Given the description of an element on the screen output the (x, y) to click on. 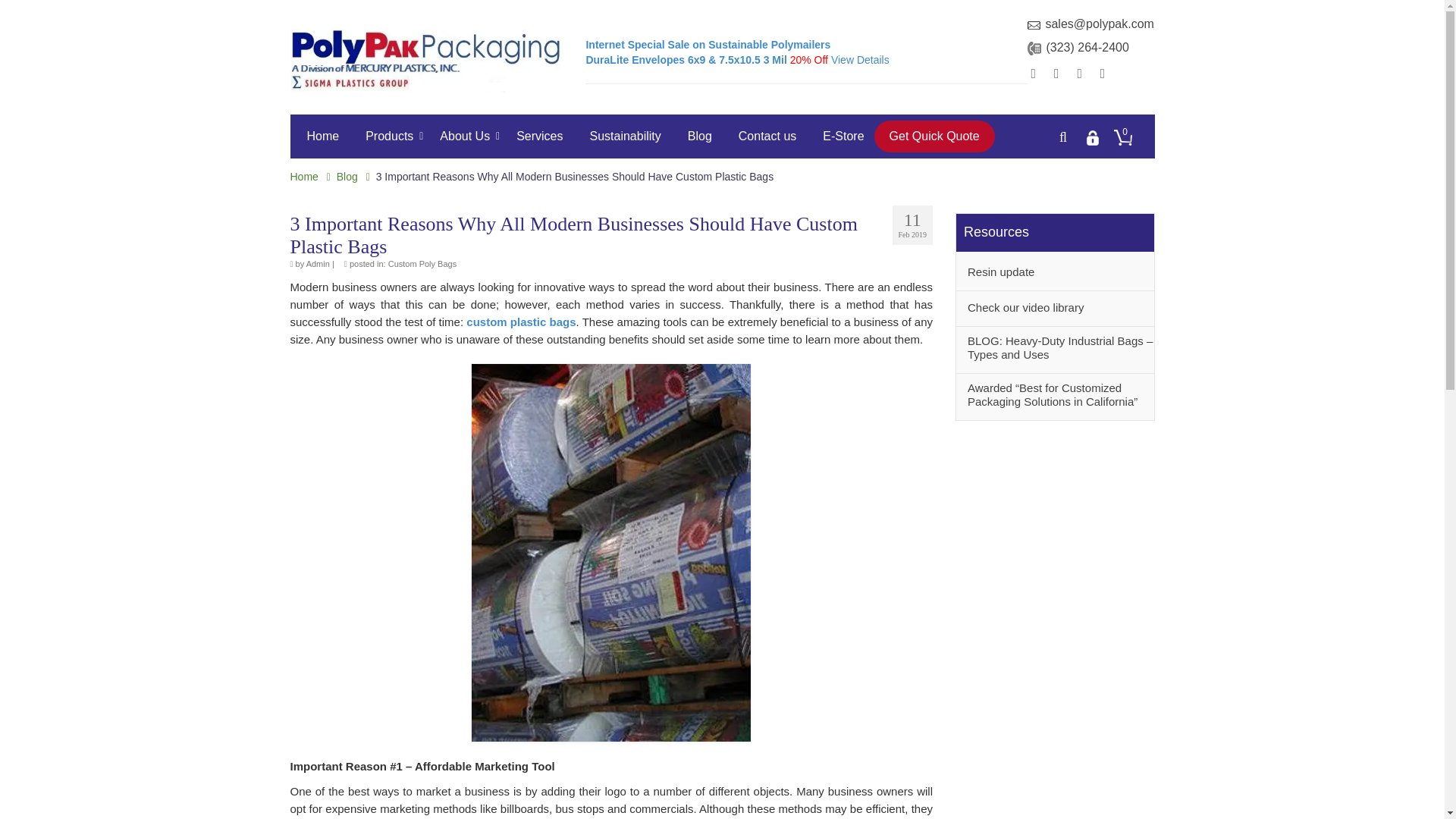
facebook (1033, 73)
youtube (1079, 73)
Search (1063, 137)
Cart (1122, 137)
View Details (860, 60)
linkedin (1102, 73)
Home (319, 136)
GMB (1056, 73)
Login (1091, 137)
Products (386, 136)
